Given the description of an element on the screen output the (x, y) to click on. 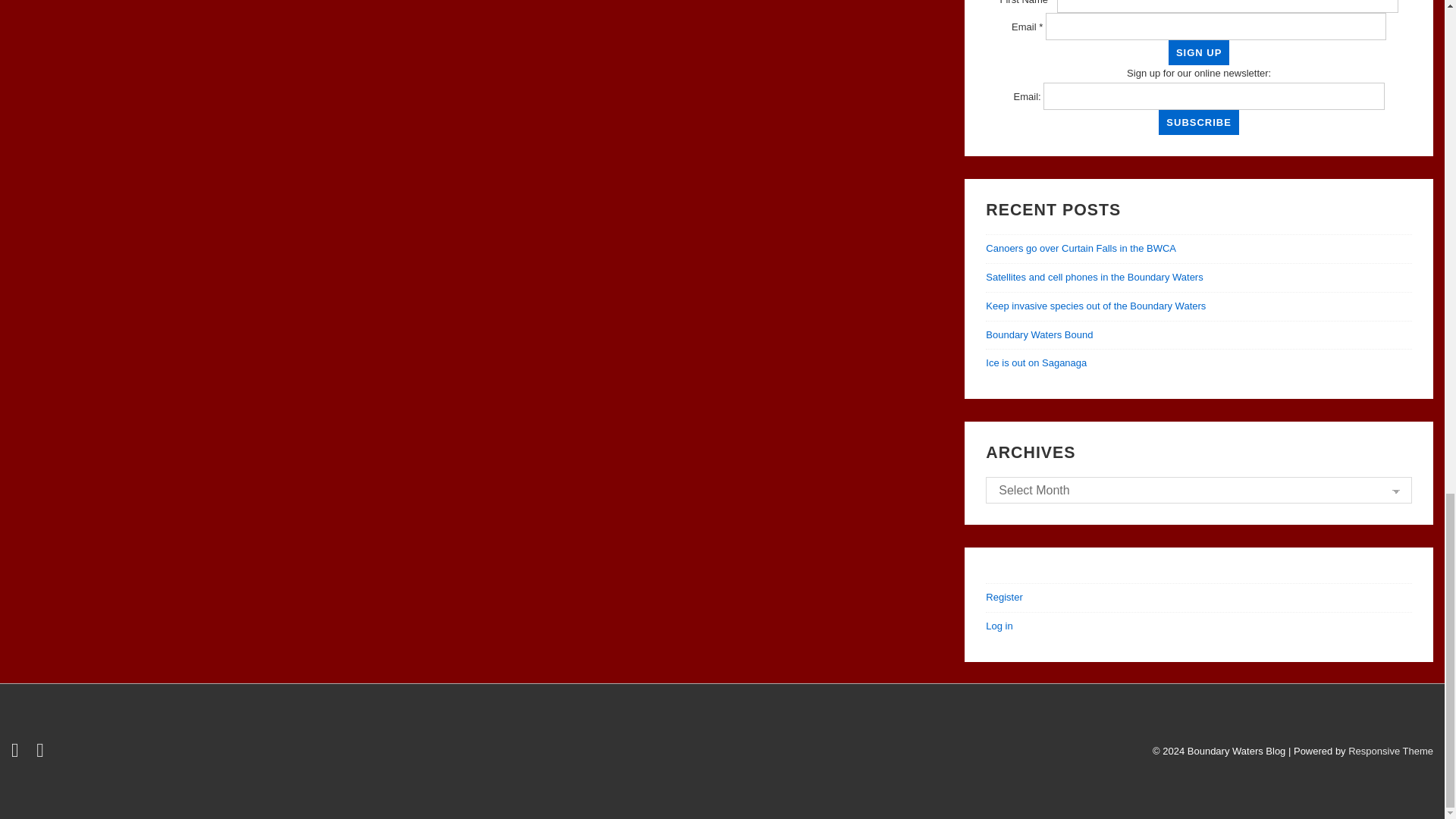
Sign Up (1198, 52)
Canoers go over Curtain Falls in the BWCA (1080, 247)
facebook (42, 753)
Subscribe (1198, 122)
Keep invasive species out of the Boundary Waters (1095, 306)
Subscribe (1198, 122)
Sign Up (1198, 52)
twitter (17, 753)
Satellites and cell phones in the Boundary Waters (1093, 276)
